Given the description of an element on the screen output the (x, y) to click on. 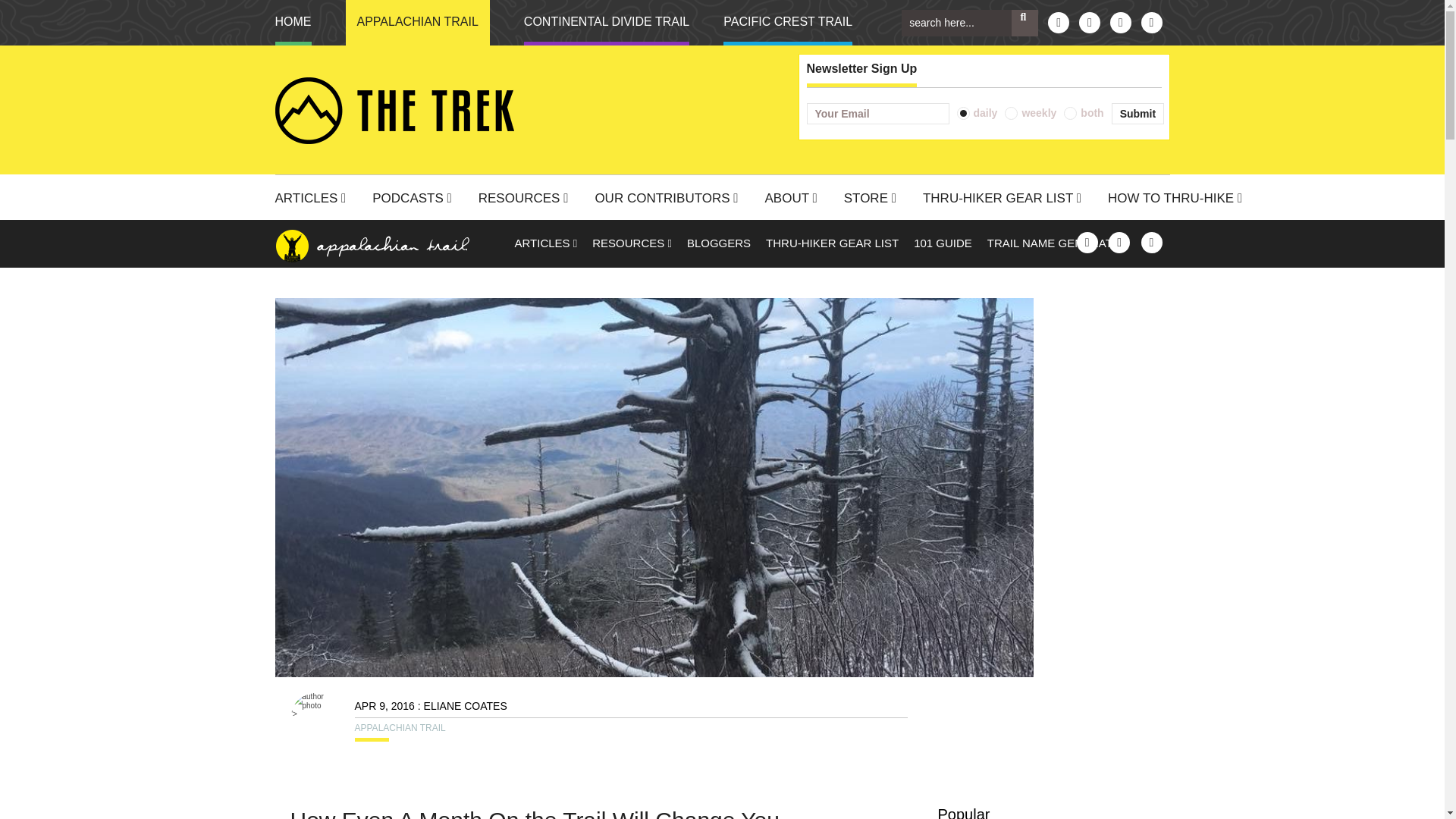
CONTINENTAL DIVIDE TRAIL (606, 22)
PACIFIC CREST TRAIL (787, 22)
ARTICLES (315, 200)
APPALACHIAN TRAIL (417, 22)
Sign Up (1137, 113)
PODCASTS (417, 200)
Submit (1137, 113)
RESOURCES (529, 200)
